Given the description of an element on the screen output the (x, y) to click on. 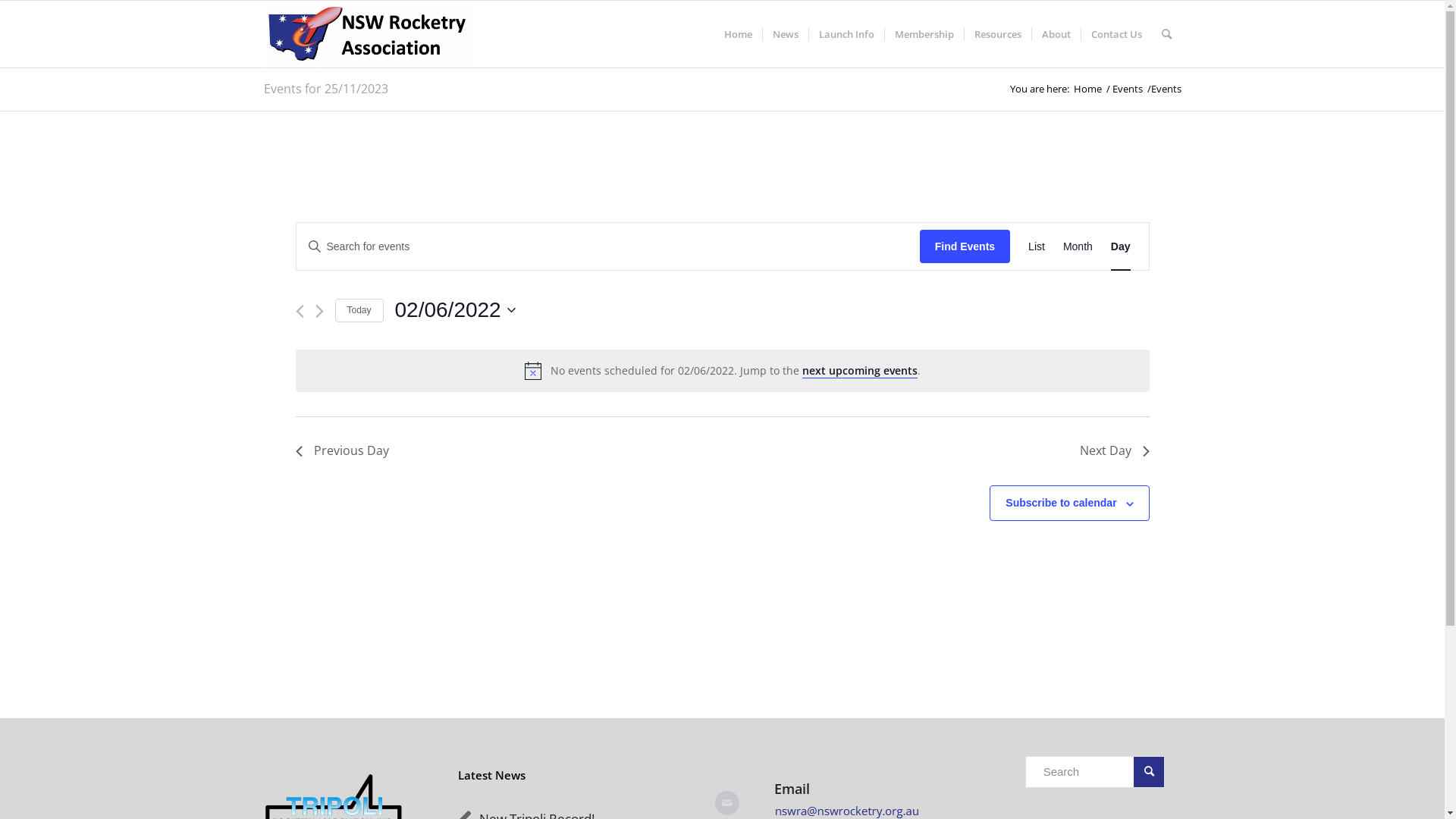
Previous Day Element type: text (342, 451)
Events Element type: text (1127, 88)
Find Events Element type: text (964, 246)
Next Day Element type: text (1114, 451)
Day Element type: text (1120, 246)
List Element type: text (1036, 246)
About Element type: text (1055, 33)
Membership Element type: text (923, 33)
Contact Us Element type: text (1115, 33)
next upcoming events Element type: text (859, 370)
News Element type: text (784, 33)
Home Element type: text (1086, 88)
02/06/2022 Element type: text (455, 309)
Launch Info Element type: text (846, 33)
Previous day Element type: hover (299, 311)
Subscribe to calendar Element type: text (1060, 502)
Resources Element type: text (996, 33)
Today Element type: text (359, 310)
Home Element type: text (738, 33)
Next day Element type: hover (319, 311)
Month Element type: text (1077, 246)
